Given the description of an element on the screen output the (x, y) to click on. 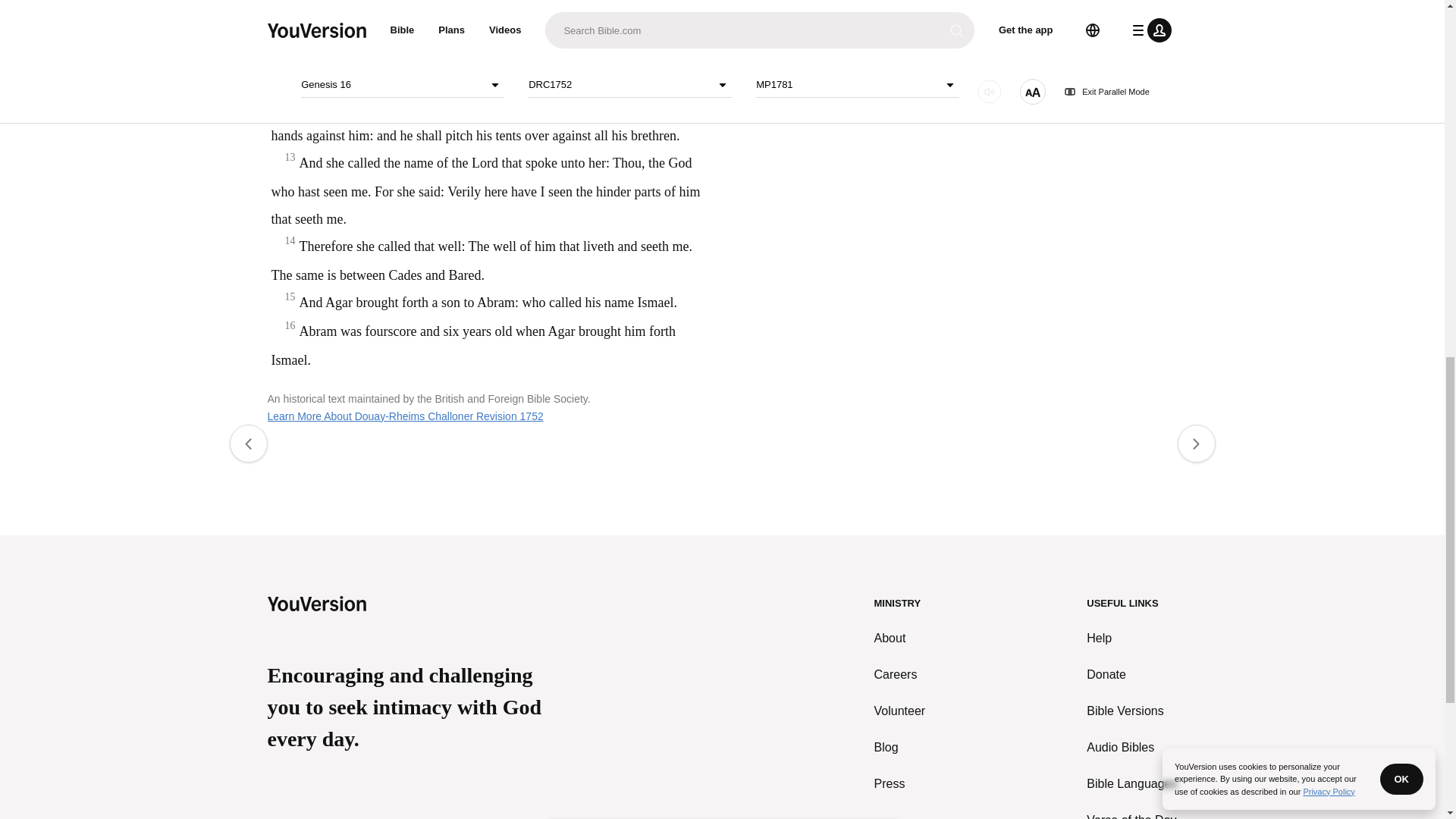
Audio Bibles (1131, 747)
Verse of the Day (1131, 815)
Bible Languages (1131, 783)
Genesis 16: DRC1752 (635, 47)
Help (1131, 638)
Sign up or sign in (774, 245)
About (900, 638)
Bible Versions (1131, 710)
Donate (1131, 674)
Careers (900, 674)
Learn More About Douay-Rheims Challoner Revision 1752 (404, 416)
Blog (900, 747)
Press (900, 783)
Volunteer (900, 710)
